Given the description of an element on the screen output the (x, y) to click on. 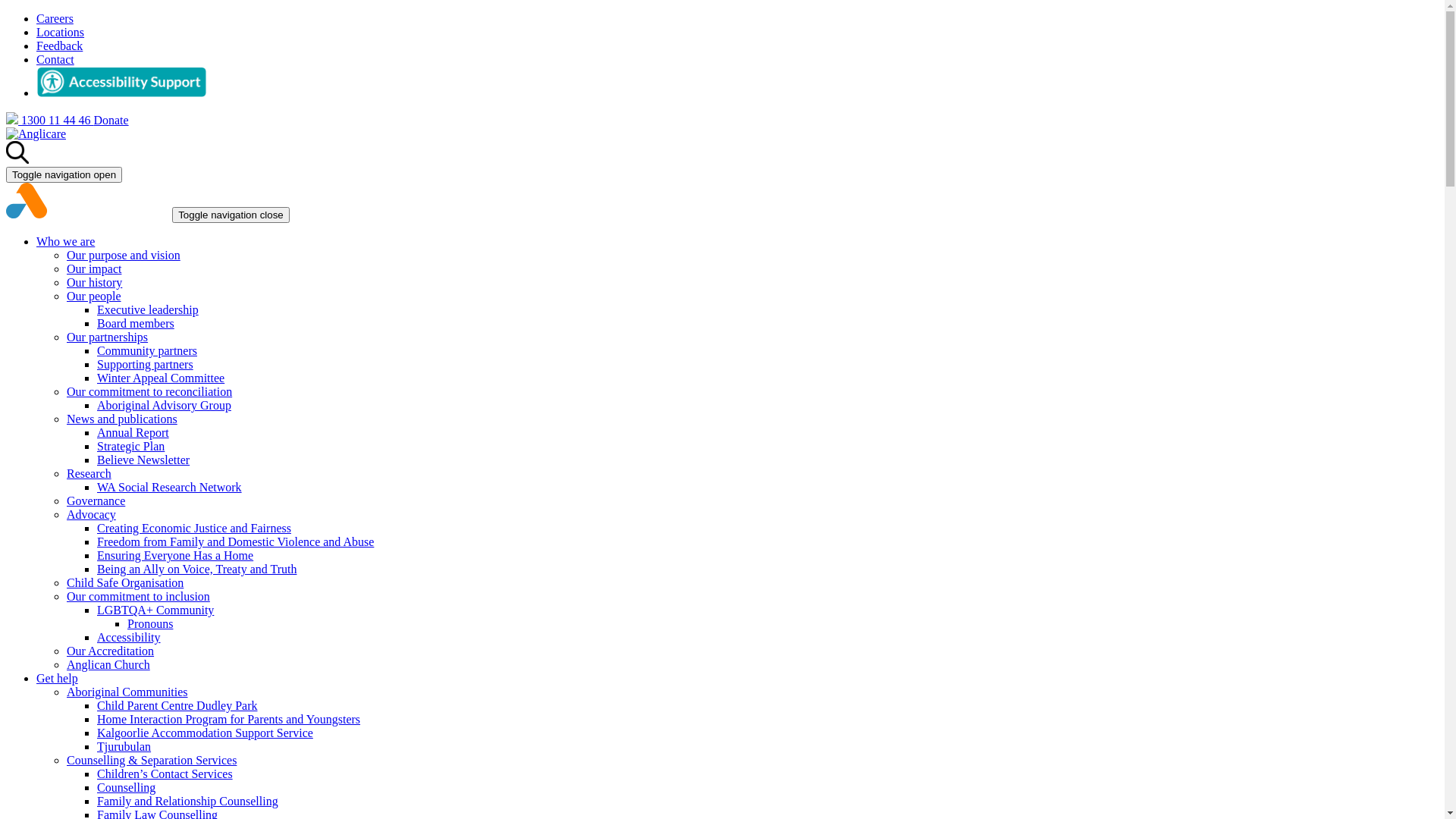
Our people Element type: text (93, 295)
Anglican Church Element type: text (108, 664)
Home Interaction Program for Parents and Youngsters Element type: text (228, 718)
Being an Ally on Voice, Treaty and Truth Element type: text (196, 568)
Pronouns Element type: text (149, 623)
Contact Element type: text (55, 59)
Advocacy Element type: text (91, 514)
Our commitment to inclusion Element type: text (138, 595)
Donate Element type: text (110, 119)
Creating Economic Justice and Fairness Element type: text (194, 527)
Counselling & Separation Services Element type: text (151, 759)
Board members Element type: text (135, 322)
Who we are Element type: text (65, 241)
Aboriginal Advisory Group Element type: text (164, 404)
Aboriginal Communities Element type: text (127, 691)
Believe Newsletter Element type: text (143, 459)
Our commitment to reconciliation Element type: text (149, 391)
Governance Element type: text (95, 500)
Toggle navigation open Element type: text (64, 174)
Strategic Plan Element type: text (130, 445)
Get help Element type: text (57, 677)
Locations Element type: text (60, 31)
Our history Element type: text (94, 282)
Child Parent Centre Dudley Park Element type: text (177, 705)
News and publications Element type: text (121, 418)
Toggle navigation close Element type: text (230, 214)
Counselling Element type: text (126, 787)
Kalgoorlie Accommodation Support Service Element type: text (205, 732)
Careers Element type: text (54, 18)
Our purpose and vision Element type: text (123, 254)
Research Element type: text (88, 473)
Community partners Element type: text (147, 350)
Feedback Element type: text (59, 45)
Annual Report Element type: text (133, 432)
WA Social Research Network Element type: text (169, 486)
Our impact Element type: text (93, 268)
Tjurubulan Element type: text (123, 746)
Freedom from Family and Domestic Violence and Abuse Element type: text (235, 541)
Accessibility Element type: text (128, 636)
Supporting partners Element type: text (145, 363)
Child Safe Organisation Element type: text (124, 582)
LGBTQA+ Community Element type: text (155, 609)
Our Accreditation Element type: text (109, 650)
Family and Relationship Counselling Element type: text (187, 800)
Winter Appeal Committee Element type: text (160, 377)
Ensuring Everyone Has a Home Element type: text (175, 555)
1300 11 44 46 Element type: text (49, 119)
Executive leadership Element type: text (147, 309)
Our partnerships Element type: text (106, 336)
